Given the description of an element on the screen output the (x, y) to click on. 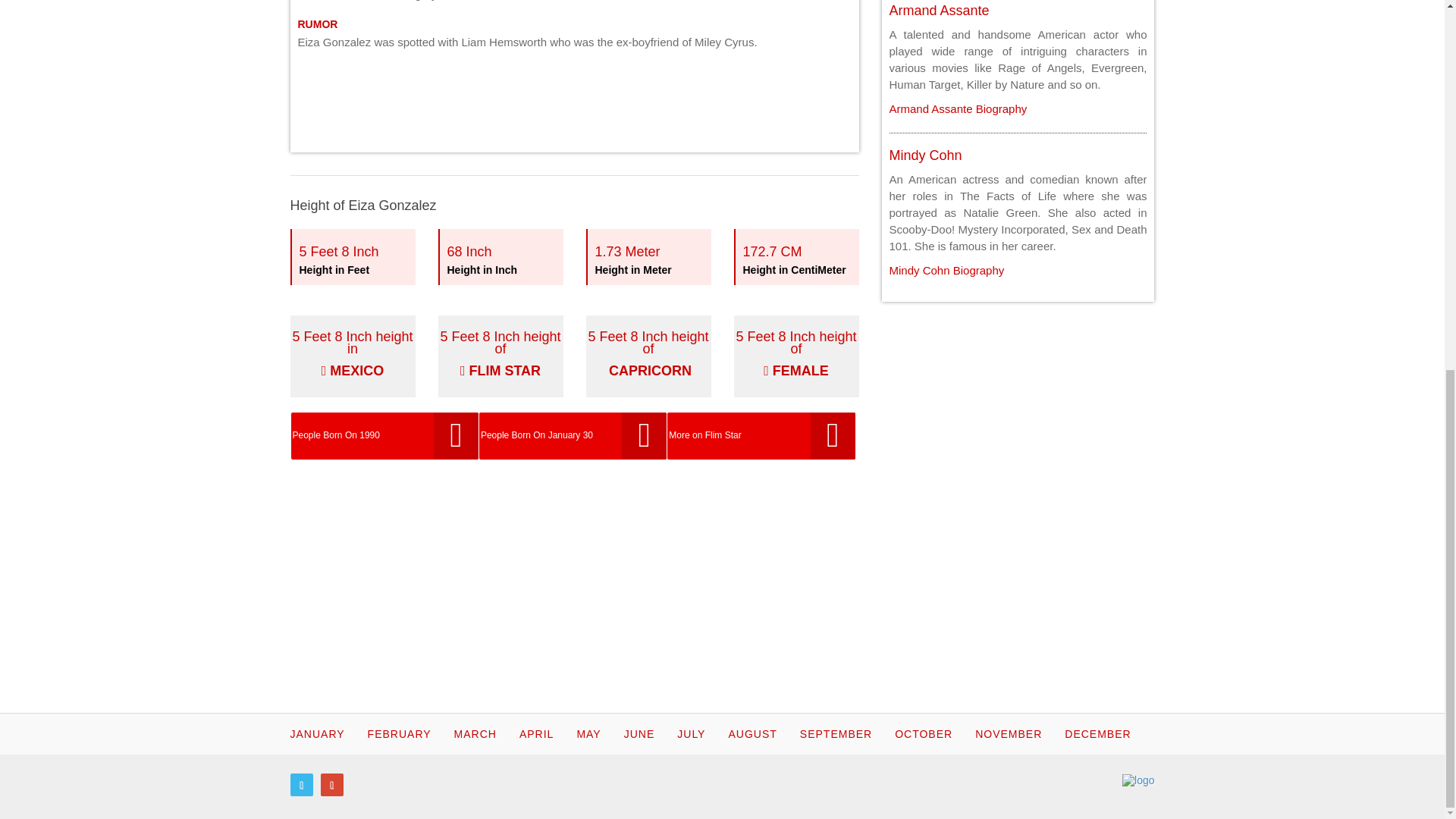
More on Flim Star (760, 435)
Armand Assante Biography (957, 108)
Mindy Cohn (946, 269)
Armand Assante (938, 10)
Armand Assante (957, 108)
People Born On 1990 (385, 435)
Mindy Cohn (351, 356)
